Given the description of an element on the screen output the (x, y) to click on. 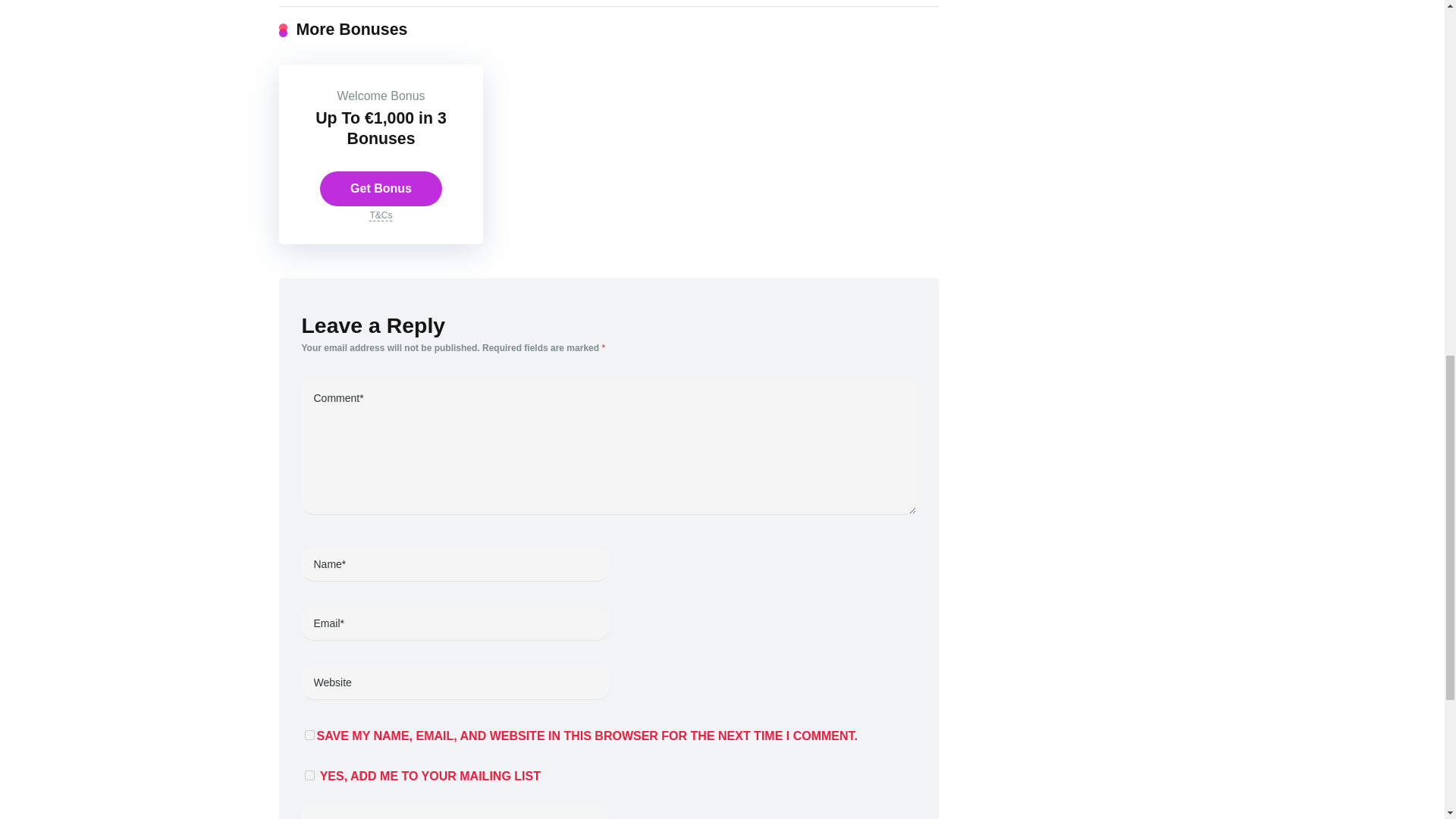
Welcome Bonus (380, 95)
yes (309, 735)
Get Bonus (381, 188)
Post Comment (454, 812)
1 (309, 775)
Get Bonus (381, 188)
Post Comment (454, 812)
Welcome Bonus (380, 95)
